Given the description of an element on the screen output the (x, y) to click on. 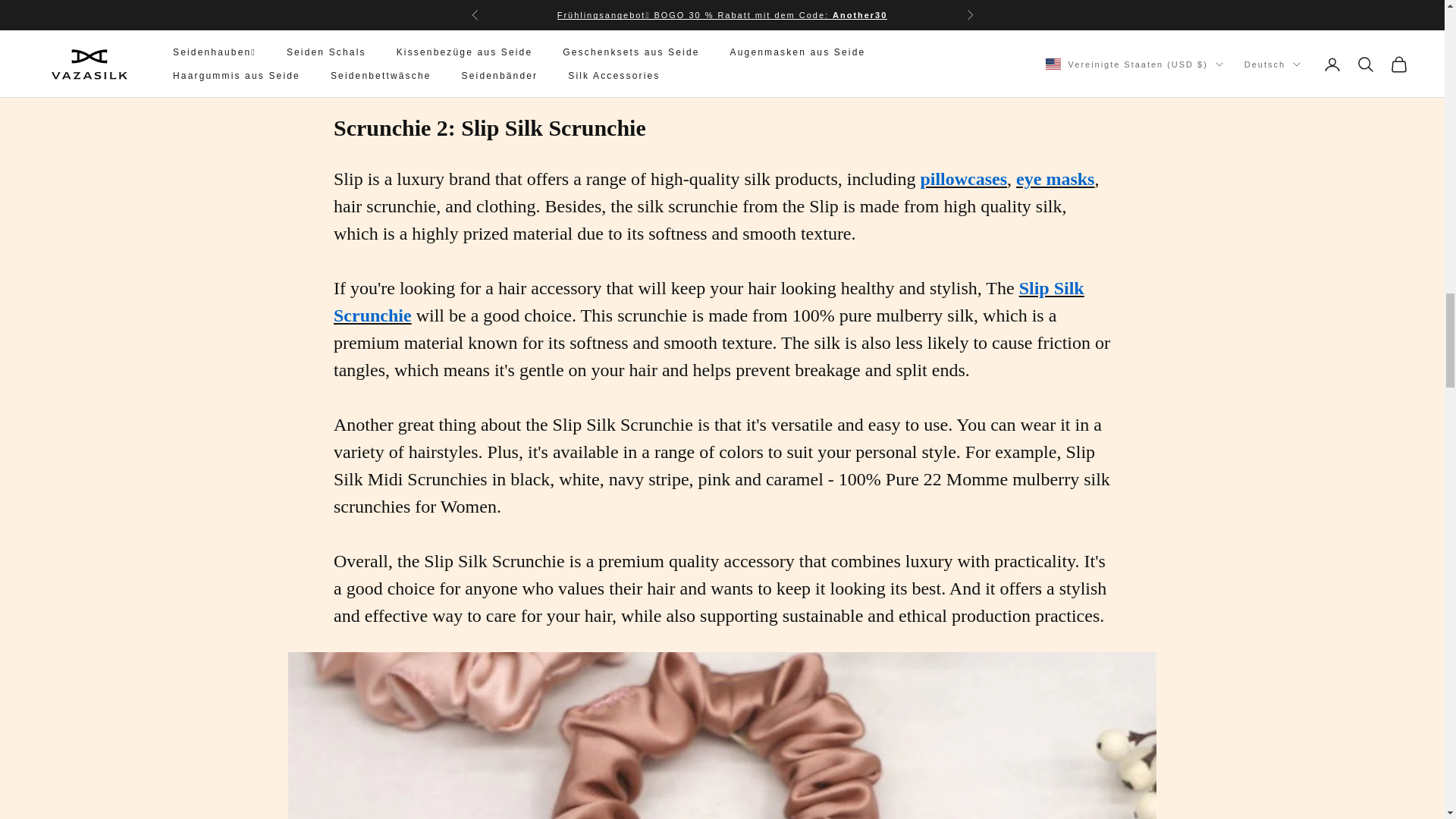
Lilysilk Silk Bonnet (722, 45)
